Given the description of an element on the screen output the (x, y) to click on. 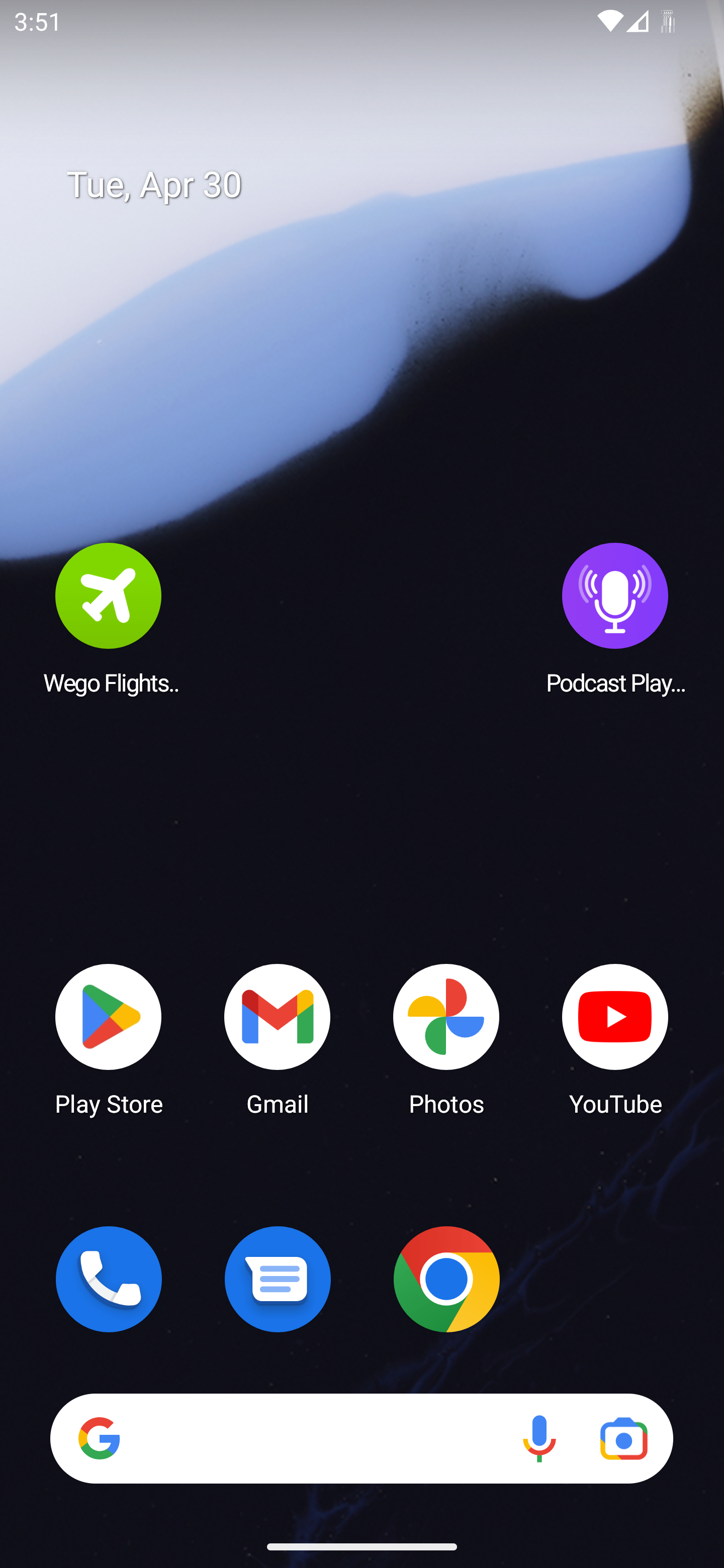
Tue, Apr 30 (375, 184)
Wego Flights & Hotels (108, 617)
Podcast Player (615, 617)
Play Store (108, 1038)
Gmail (277, 1038)
Photos (445, 1038)
YouTube (615, 1038)
Phone (108, 1279)
Messages (277, 1279)
Chrome (446, 1279)
Voice search (539, 1438)
Google Lens (623, 1438)
